Given the description of an element on the screen output the (x, y) to click on. 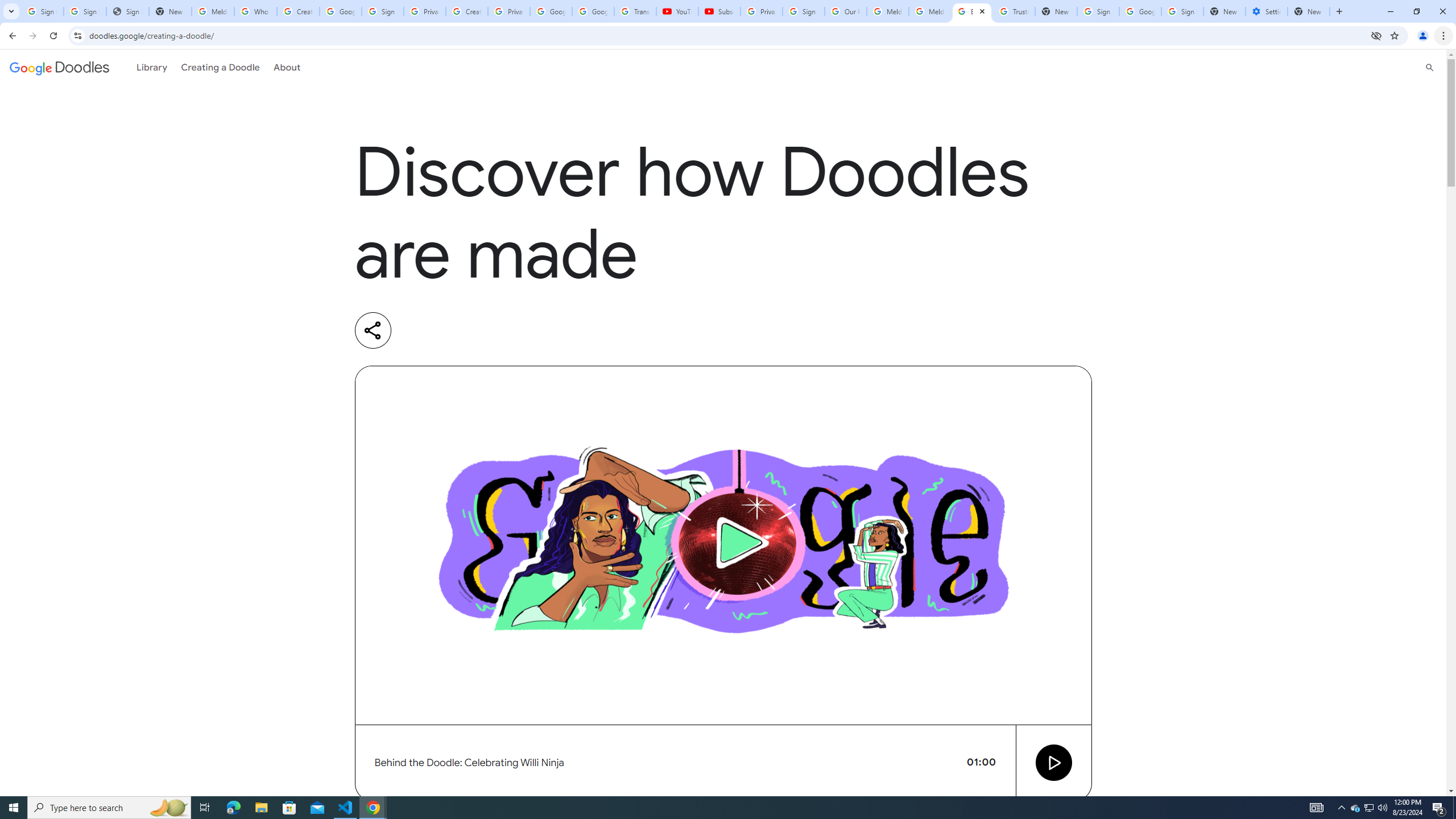
Create your Google Account (467, 11)
Share on twitter (465, 330)
Google Account (592, 11)
Share on facebook (512, 330)
Sign in - Google Accounts (1182, 11)
Video preview image (723, 545)
Sign in - Google Accounts (382, 11)
Sign in - Google Accounts (803, 11)
